Given the description of an element on the screen output the (x, y) to click on. 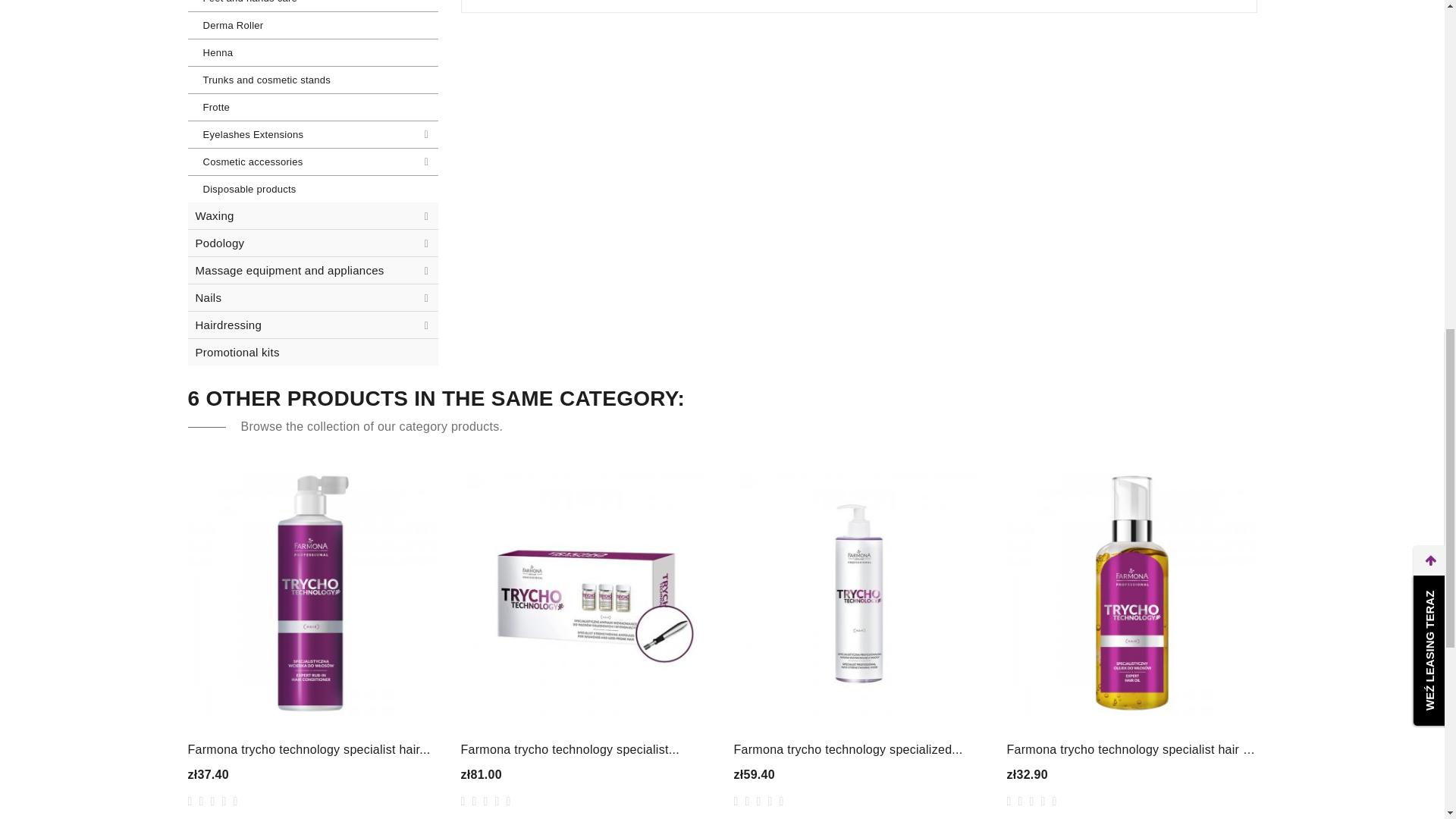
Farmona trycho technology specialist hair lotion 200 ml (312, 749)
